Given the description of an element on the screen output the (x, y) to click on. 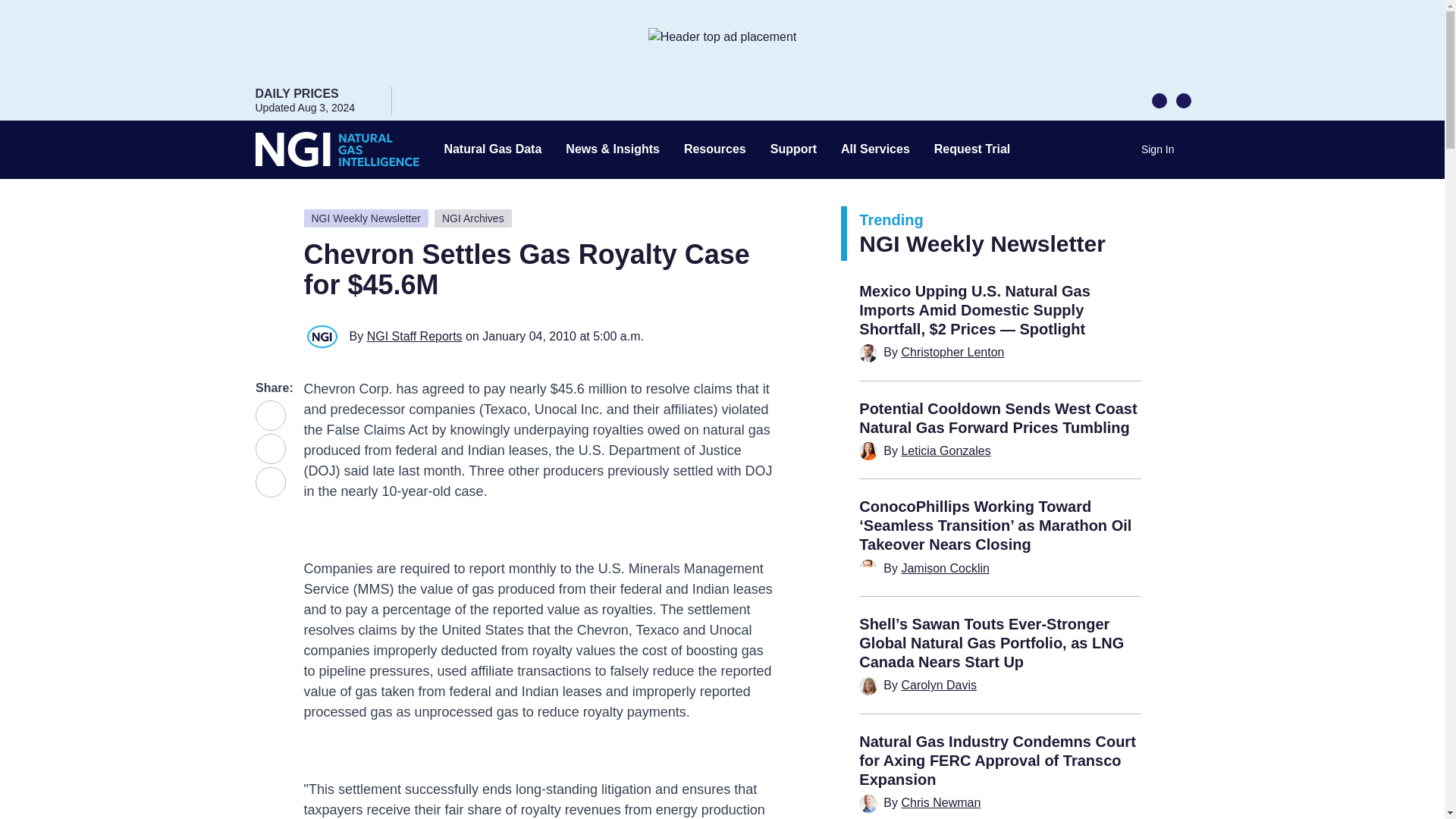
Scroll Left (1158, 99)
Scroll Right (1182, 99)
Natural Gas Data (492, 149)
